Given the description of an element on the screen output the (x, y) to click on. 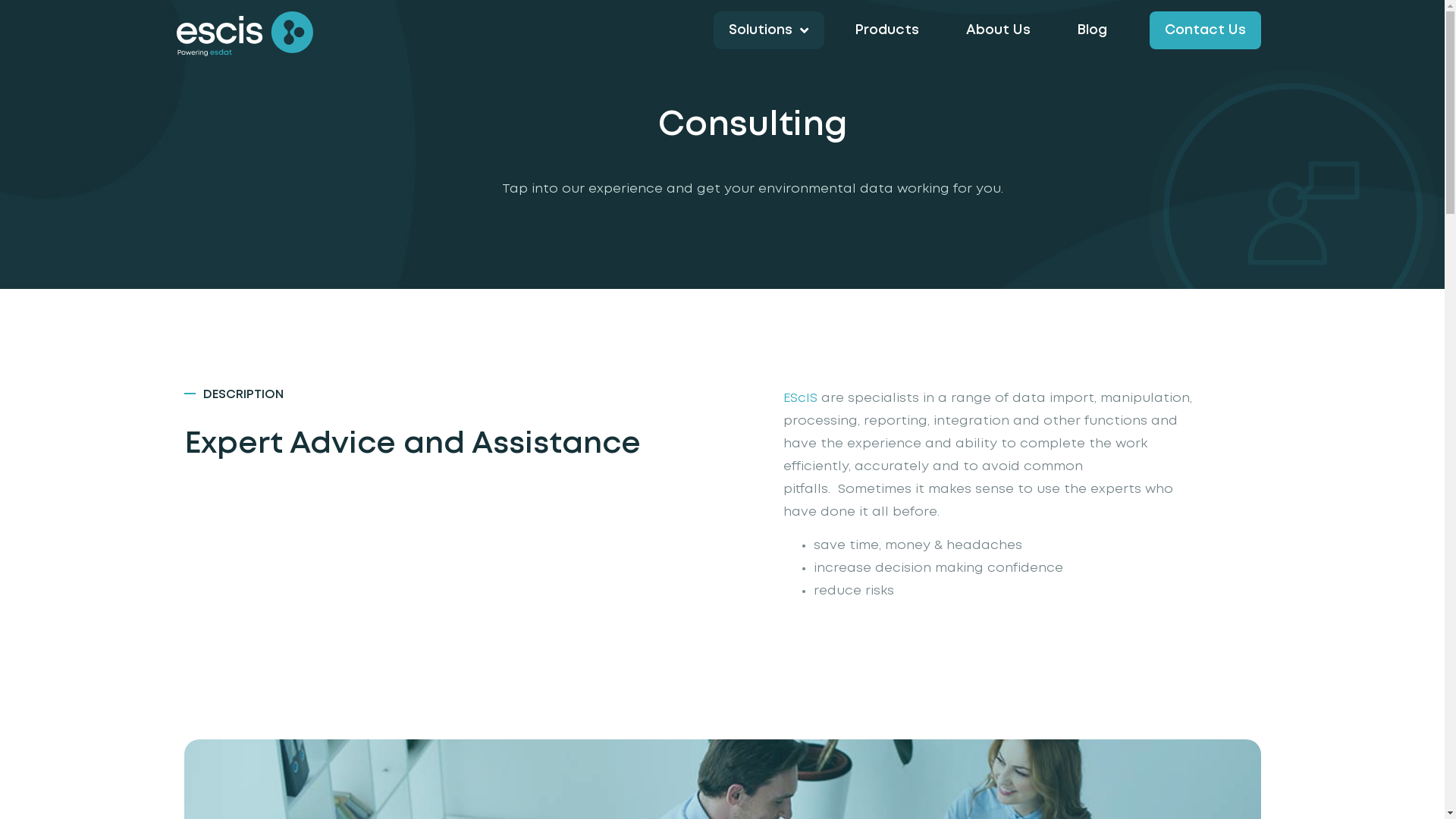
Blog Element type: text (1091, 30)
Contact Us Element type: text (1205, 30)
About Us Element type: text (997, 30)
Solutions Element type: text (767, 30)
Products Element type: text (887, 30)
